Given the description of an element on the screen output the (x, y) to click on. 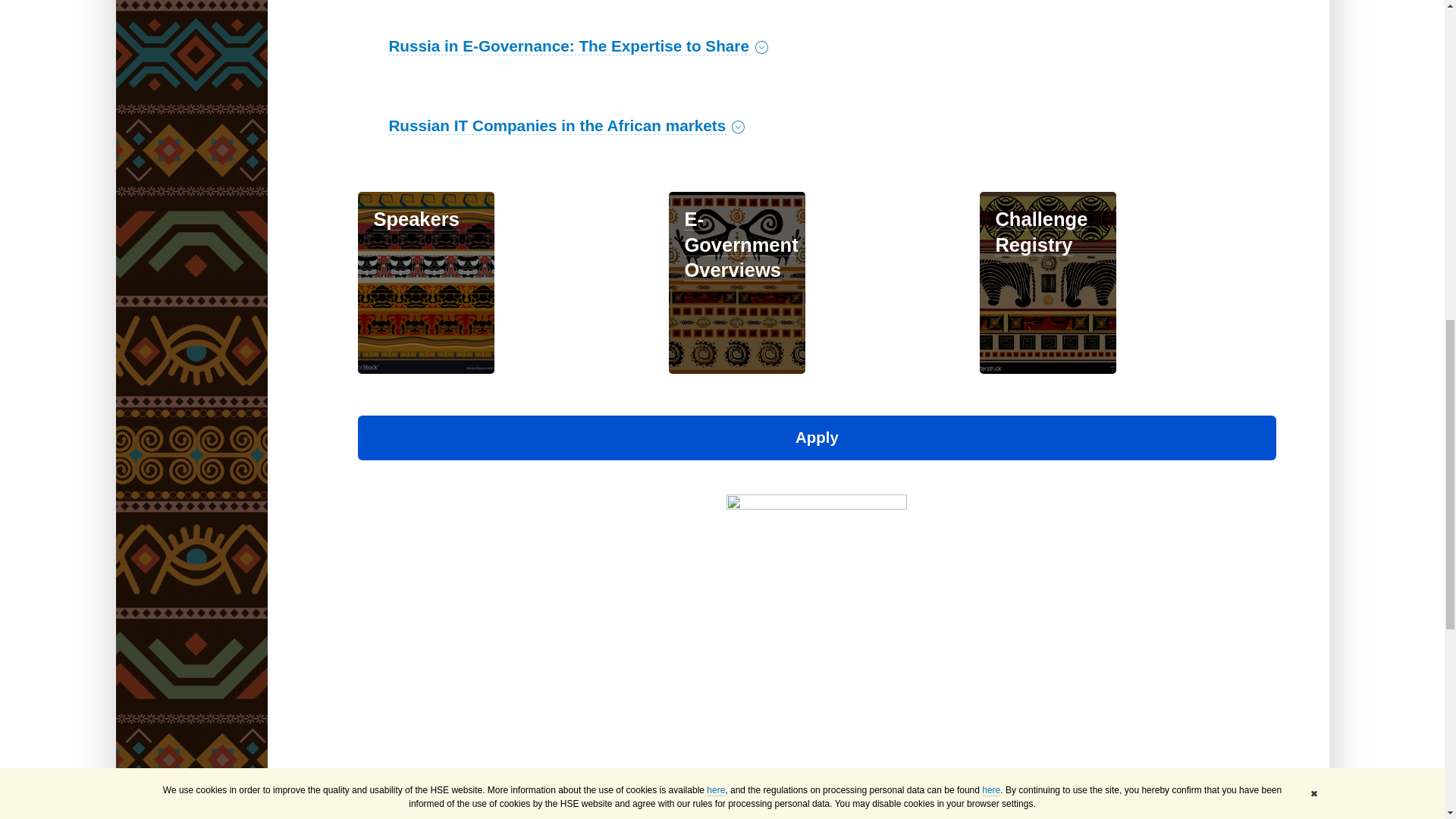
Viber (430, 784)
VKontakte (366, 784)
Telegram (387, 784)
WhatsApp (409, 784)
